Given the description of an element on the screen output the (x, y) to click on. 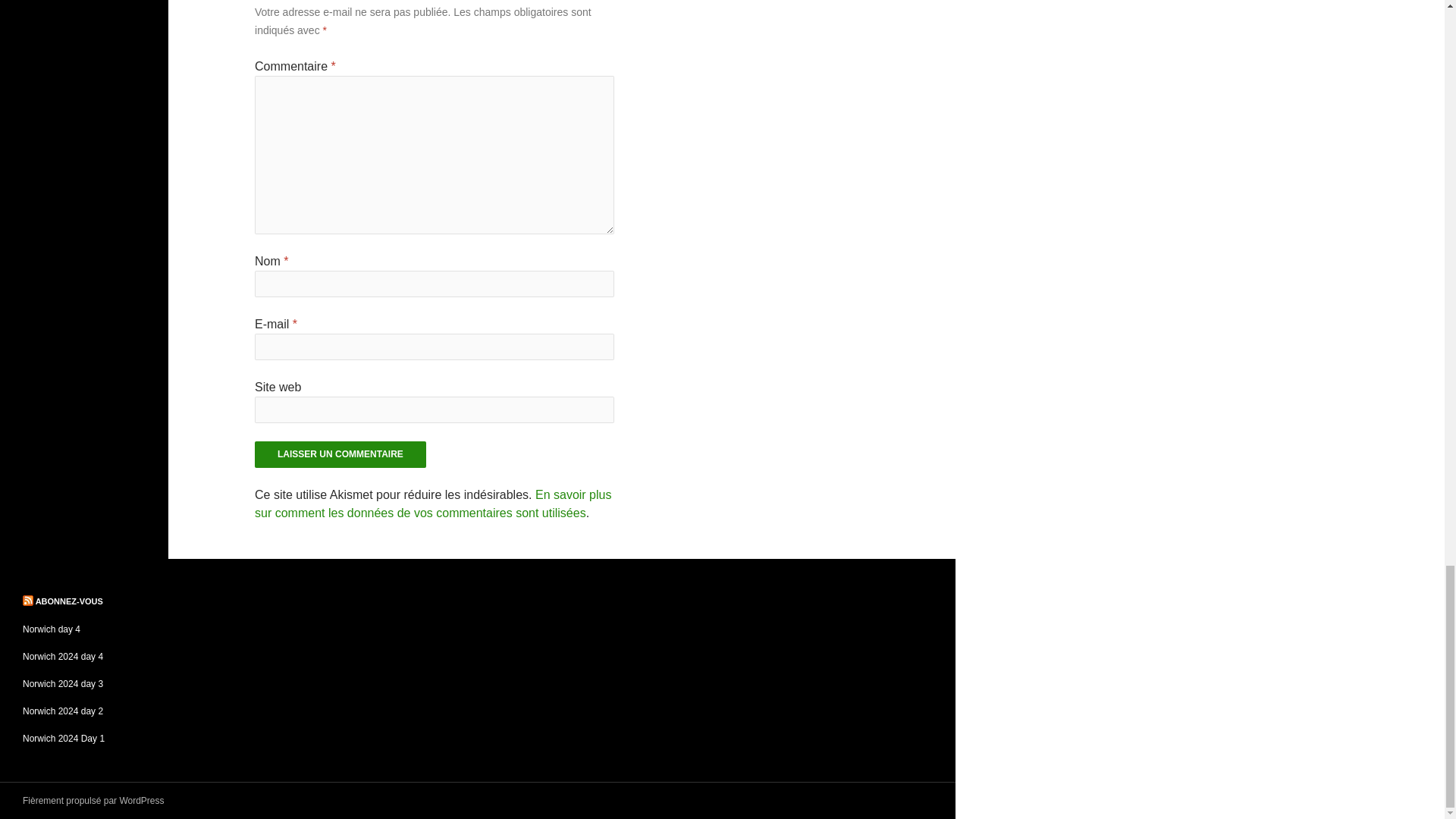
Laisser un commentaire (340, 454)
Laisser un commentaire (340, 454)
